Given the description of an element on the screen output the (x, y) to click on. 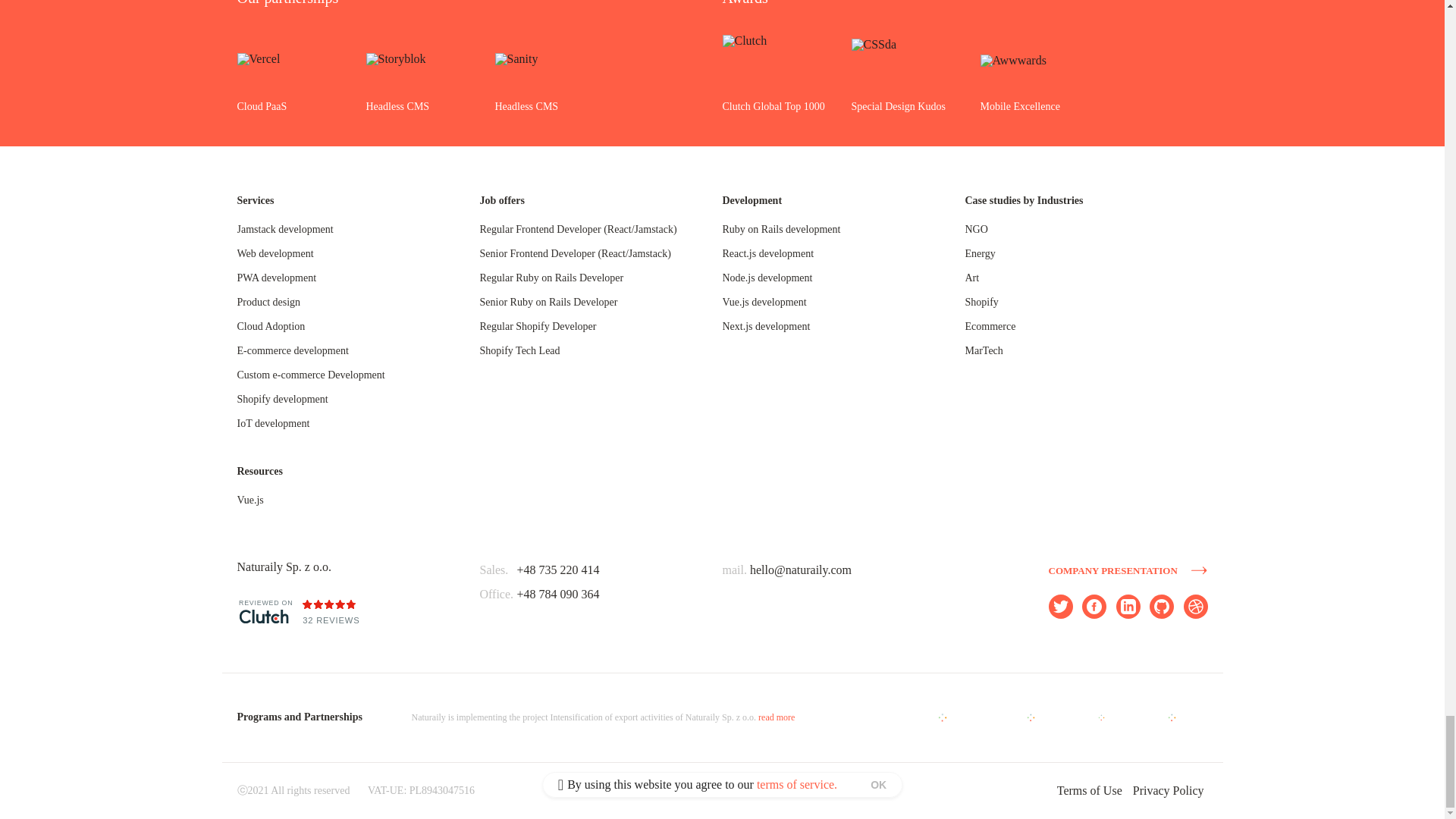
Web development (274, 253)
Naturaily Clutch Review Widget 2 (397, 618)
Jamstack development (284, 229)
PWA development (275, 278)
